Given the description of an element on the screen output the (x, y) to click on. 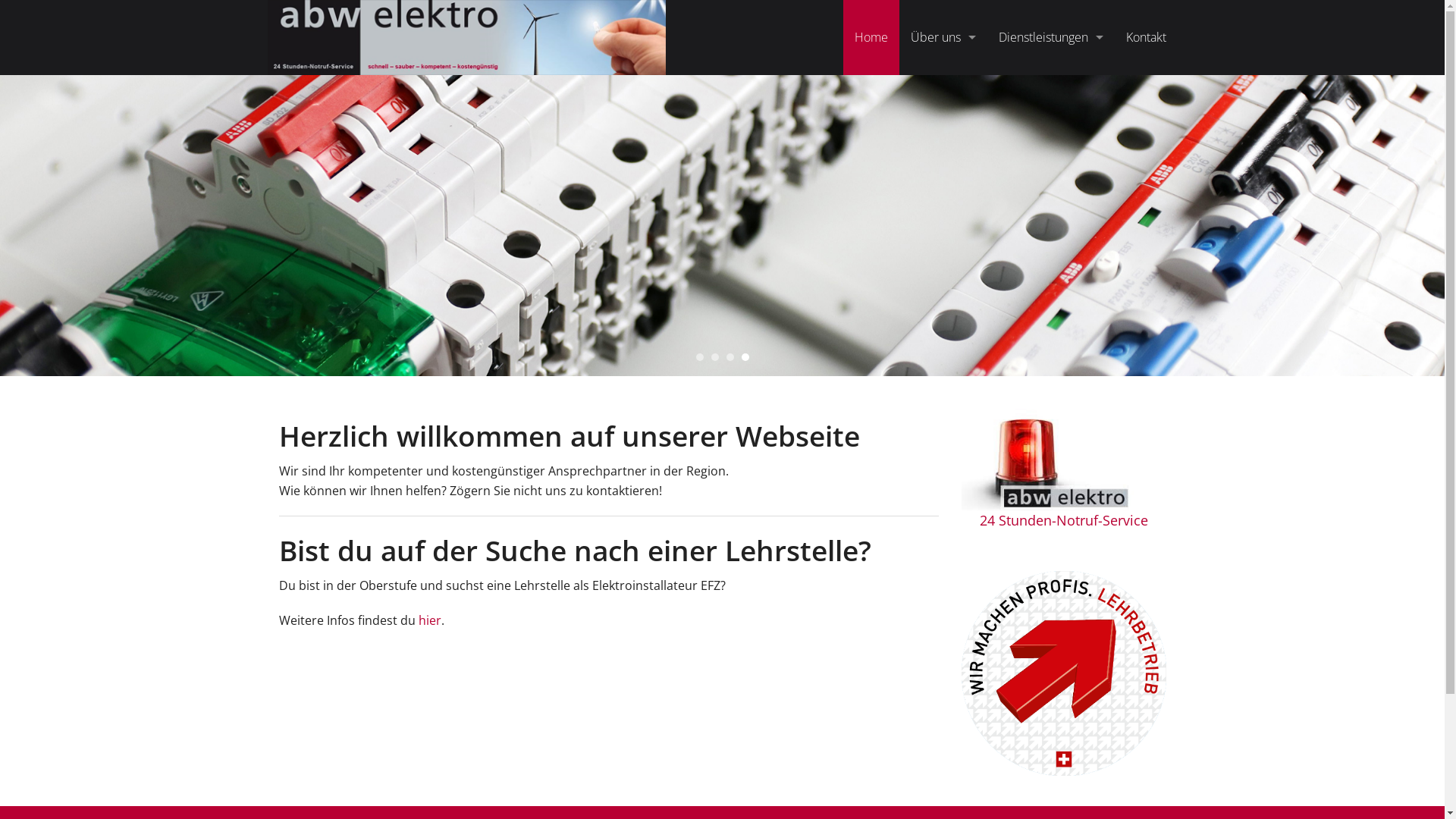
Kommunikation Element type: text (1050, 194)
3 Element type: text (730, 356)
Intelligentes Wohnen Element type: text (1050, 228)
Unsere Einsatzregion Element type: text (943, 126)
1 Element type: text (699, 356)
2 Element type: text (714, 356)
Lehrstellen Element type: text (943, 194)
Service & Unterhalt Element type: text (1050, 92)
Beleuchtung/LED Element type: text (1050, 160)
hier Element type: text (429, 619)
24 Stunden-Notruf-Service Element type: text (1063, 520)
Elektroinstallationen Element type: text (1050, 126)
Unser Standort Element type: text (943, 92)
Kontakt Element type: text (1145, 37)
Formular Serviceauftrag Element type: text (923, 92)
4 Element type: text (745, 356)
Home Element type: text (871, 37)
Offene Stellen Element type: text (943, 160)
Dienstleistungen Element type: text (1050, 37)
